Given the description of an element on the screen output the (x, y) to click on. 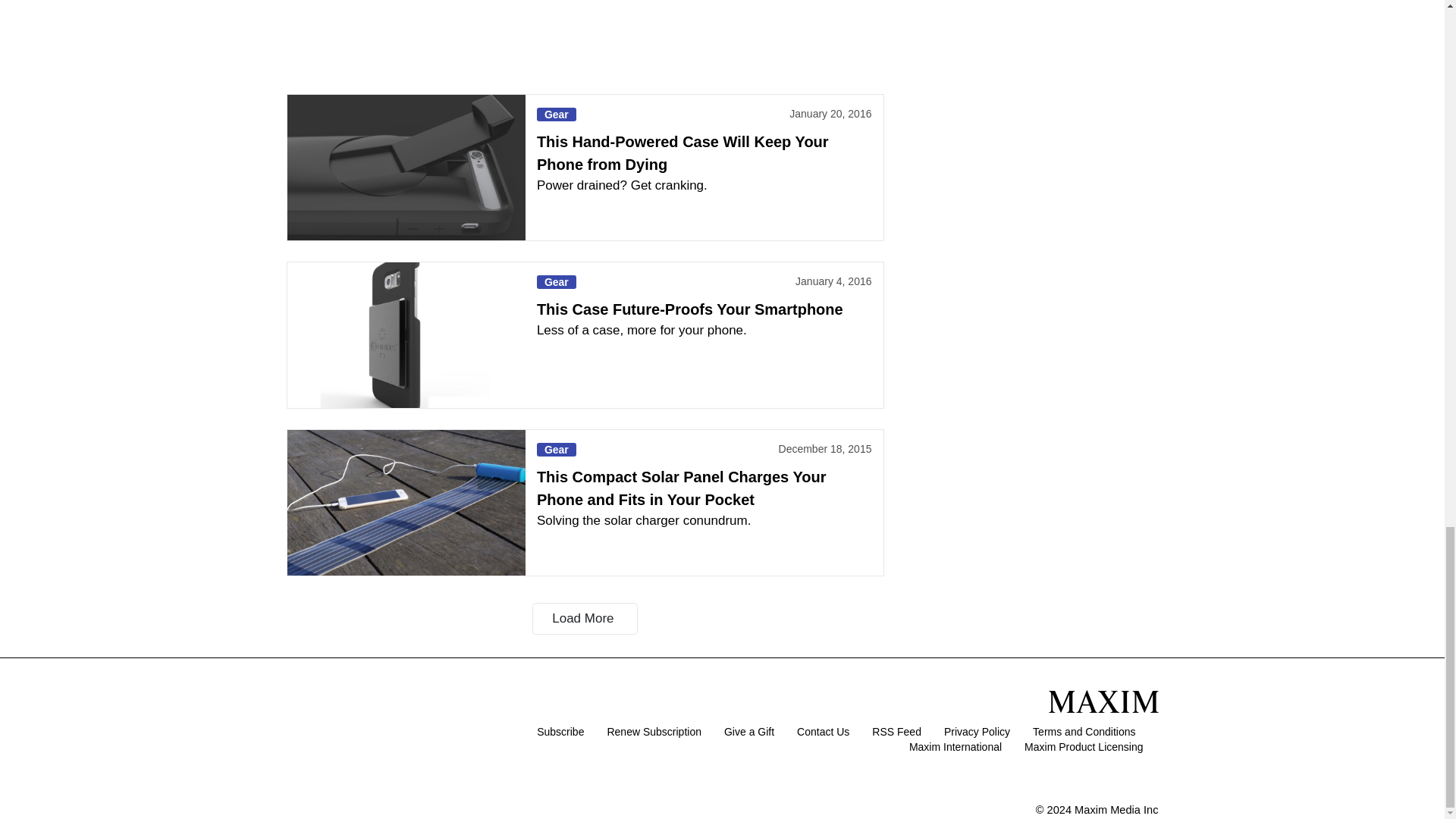
This Hand-Powered Case Will Keep Your Phone from Dying (405, 167)
This Case Future-Proofs Your Smartphone (405, 334)
Just Slip Your Phone into This Leather Sleeve to Charge It (405, 36)
